Given the description of an element on the screen output the (x, y) to click on. 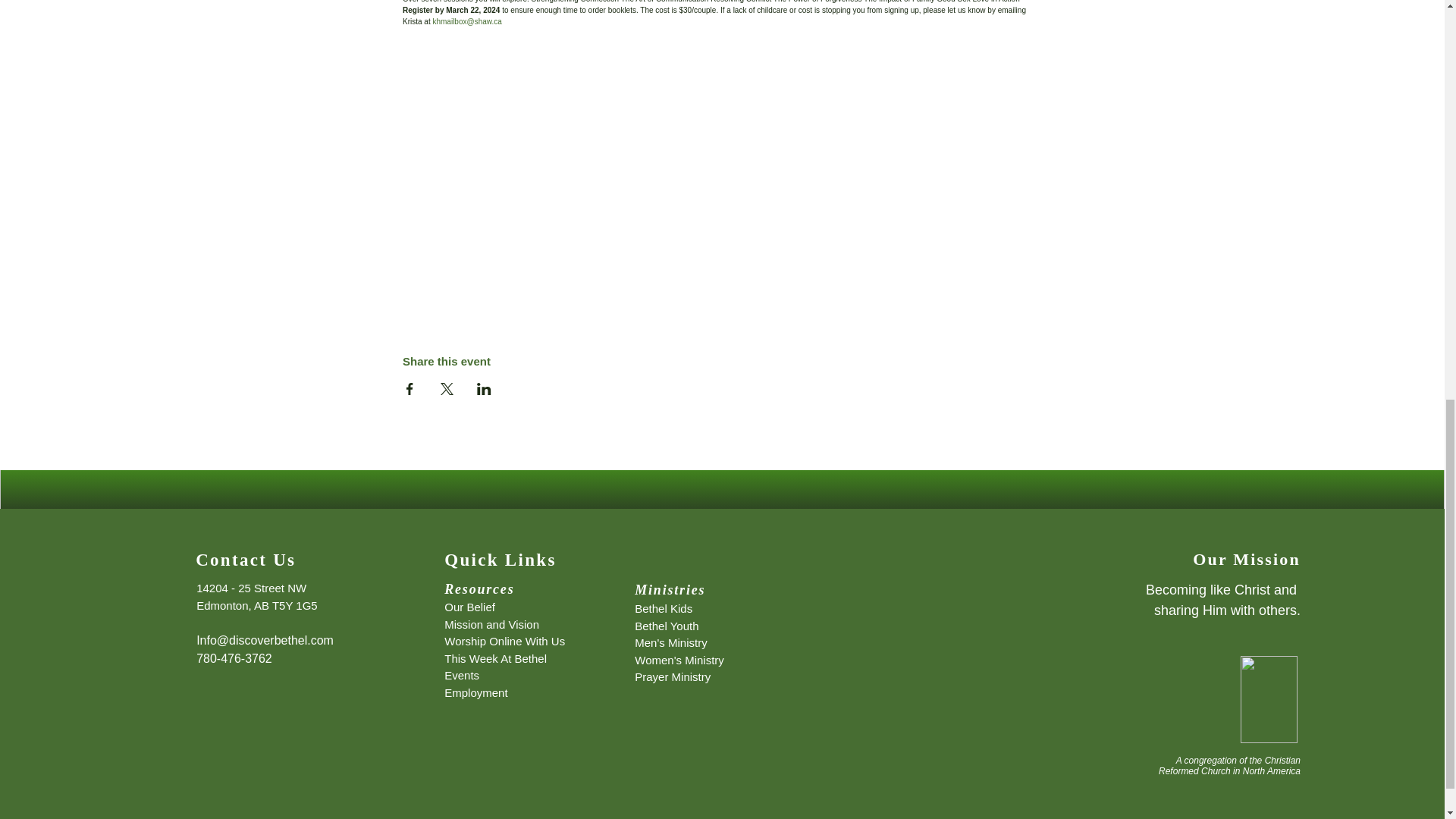
Our Belief (469, 606)
Events (461, 675)
780-476-3762 (234, 658)
Worship Online With Us (504, 640)
Emplo (460, 692)
Bethel Youth (666, 625)
Mission and Vision (491, 624)
Prayer Ministry (672, 676)
yment (492, 692)
Bethel Kids (663, 608)
Reformed Church in North America (1229, 770)
This Week At Bethel (495, 658)
Christian (1282, 760)
Women's Ministry (678, 659)
Men's Ministry (670, 642)
